Given the description of an element on the screen output the (x, y) to click on. 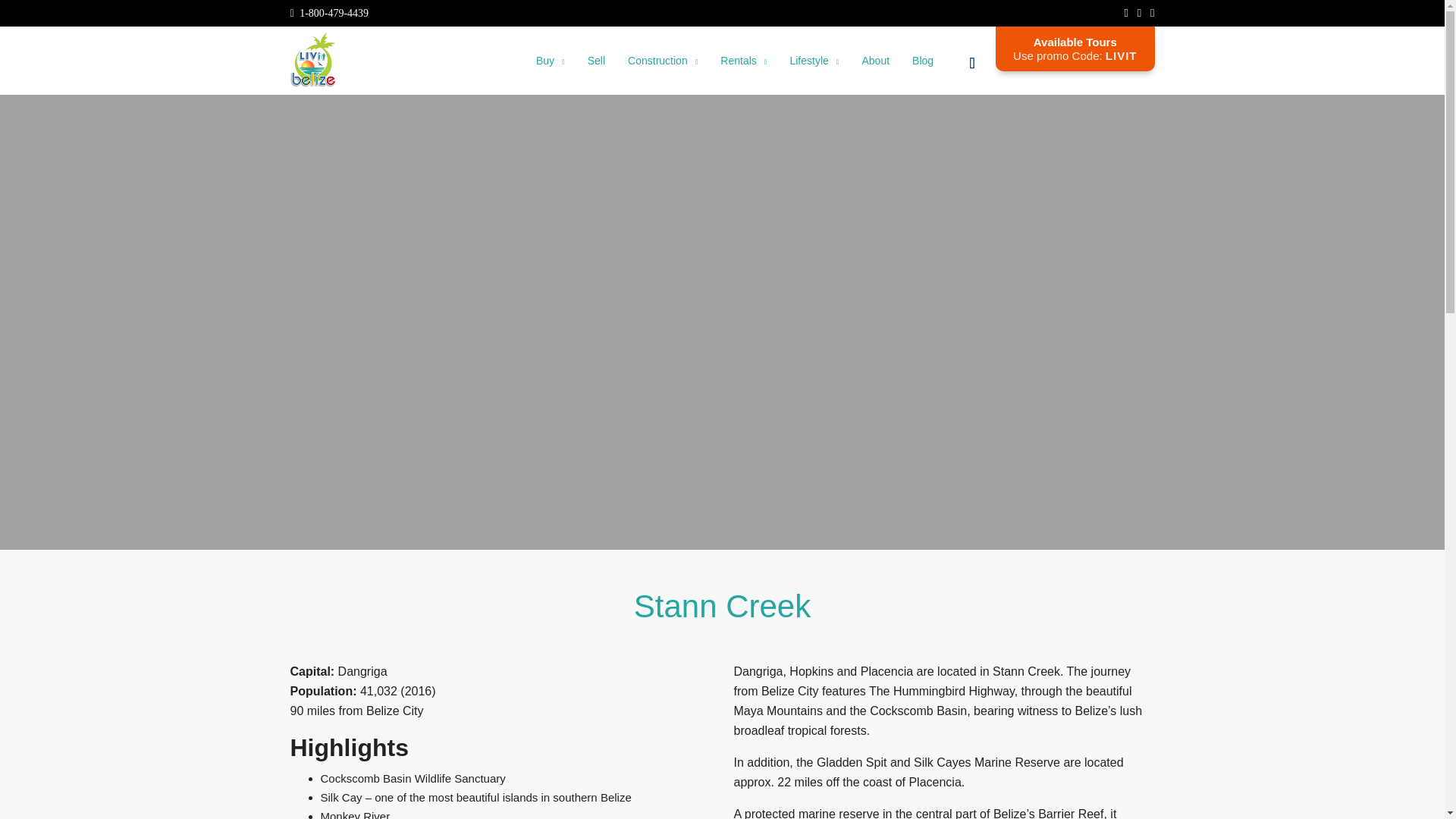
Construction (662, 61)
Rentals (743, 61)
1-800-479-4439 (328, 12)
